Given the description of an element on the screen output the (x, y) to click on. 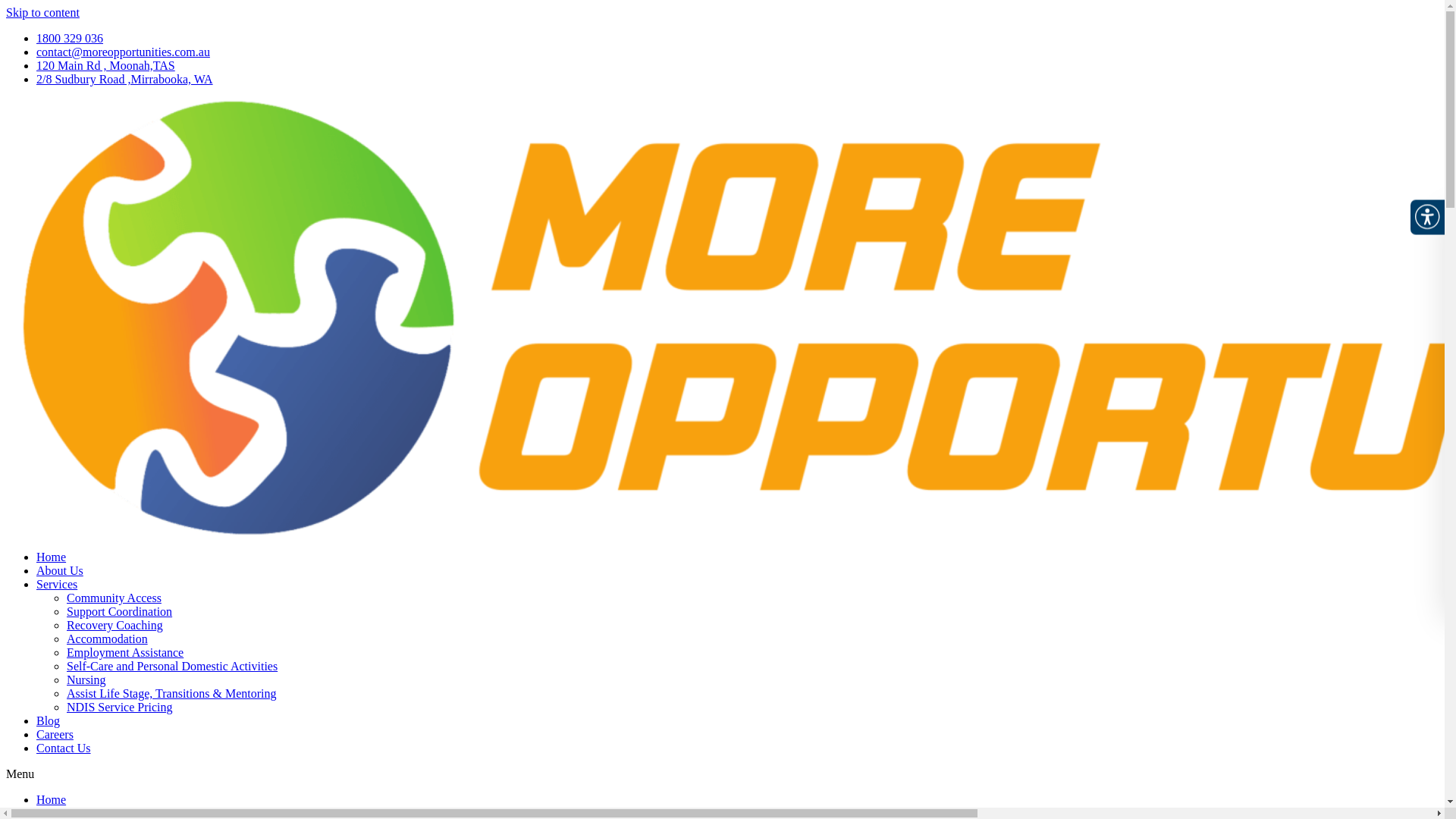
About Us Element type: text (59, 570)
Self-Care and Personal Domestic Activities Element type: text (171, 665)
Assist Life Stage, Transitions & Mentoring Element type: text (171, 693)
contact@moreopportunities.com.au Element type: text (123, 51)
Support Coordination Element type: text (119, 611)
Home Element type: text (50, 799)
Accommodation Element type: text (106, 638)
2/8 Sudbury Road ,Mirrabooka, WA Element type: text (124, 78)
120 Main Rd , Moonah,TAS Element type: text (105, 65)
Home Element type: text (50, 556)
Nursing Element type: text (86, 679)
Skip to content Element type: text (42, 12)
NDIS Service Pricing Element type: text (119, 706)
Blog Element type: text (47, 720)
Employment Assistance Element type: text (124, 652)
Contact Us Element type: text (63, 747)
1800 329 036 Element type: text (69, 37)
Services Element type: text (56, 583)
Careers Element type: text (54, 734)
Community Access Element type: text (113, 597)
Recovery Coaching Element type: text (114, 624)
